Given the description of an element on the screen output the (x, y) to click on. 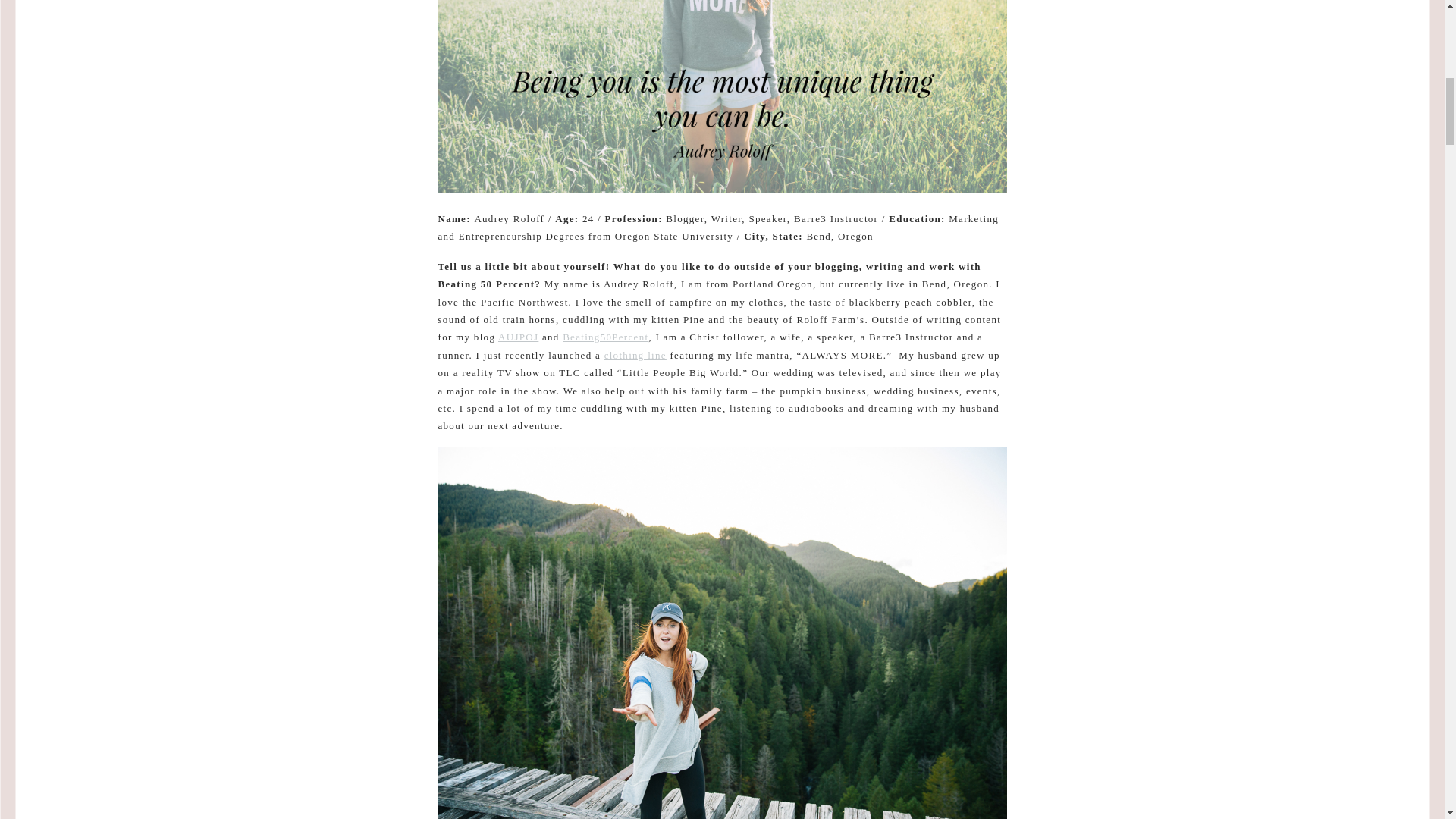
AUJPOJ (517, 337)
Beating50Percent (604, 337)
clothing line (635, 355)
